Given the description of an element on the screen output the (x, y) to click on. 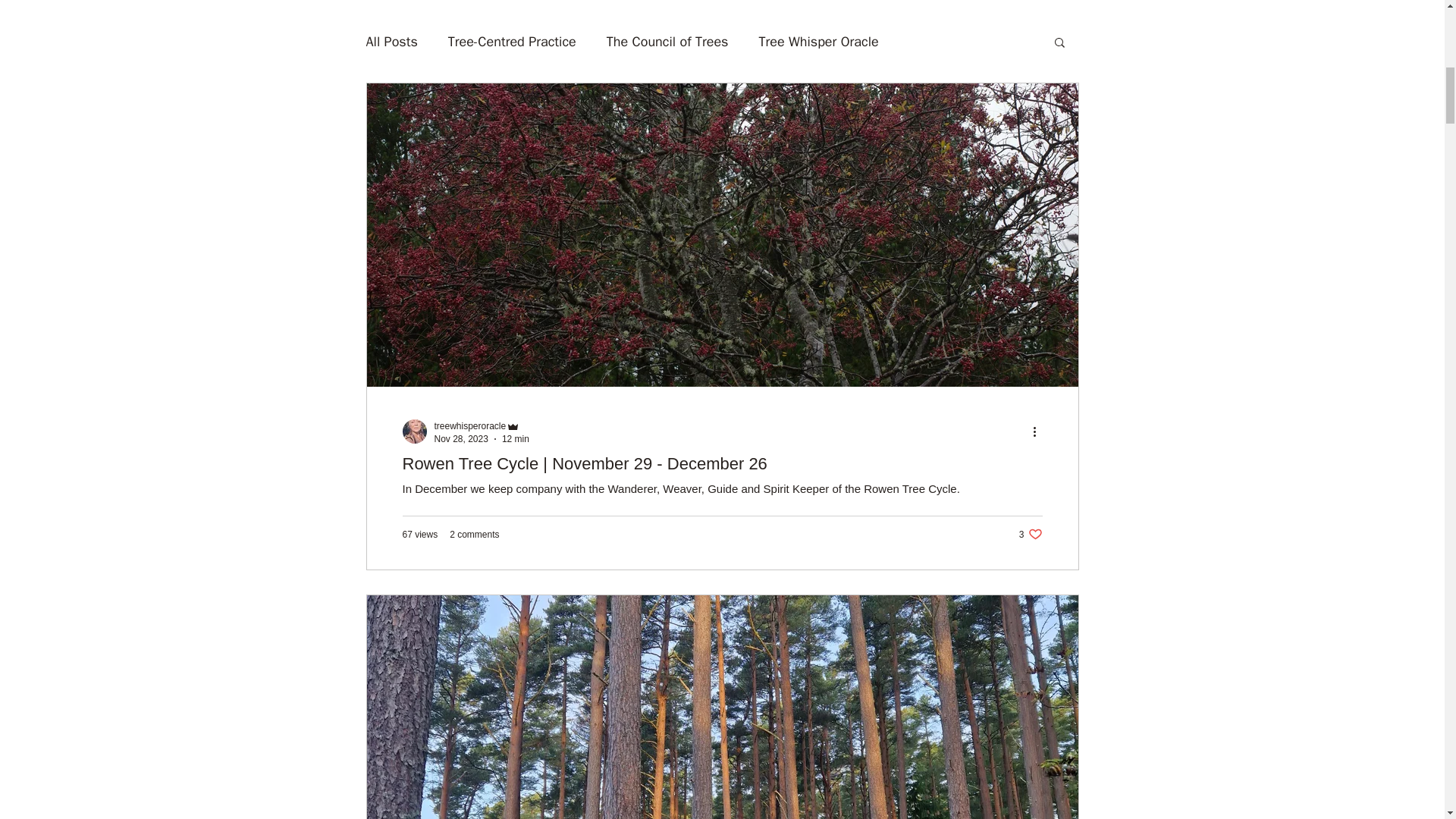
Tree-Centred Practice (512, 41)
The Council of Trees (668, 41)
All Posts (390, 41)
treewhisperoracle (469, 425)
12 min (515, 439)
Nov 28, 2023 (460, 439)
2 comments (474, 534)
Tree Whisper Oracle (817, 41)
treewhisperoracle (1030, 534)
